Given the description of an element on the screen output the (x, y) to click on. 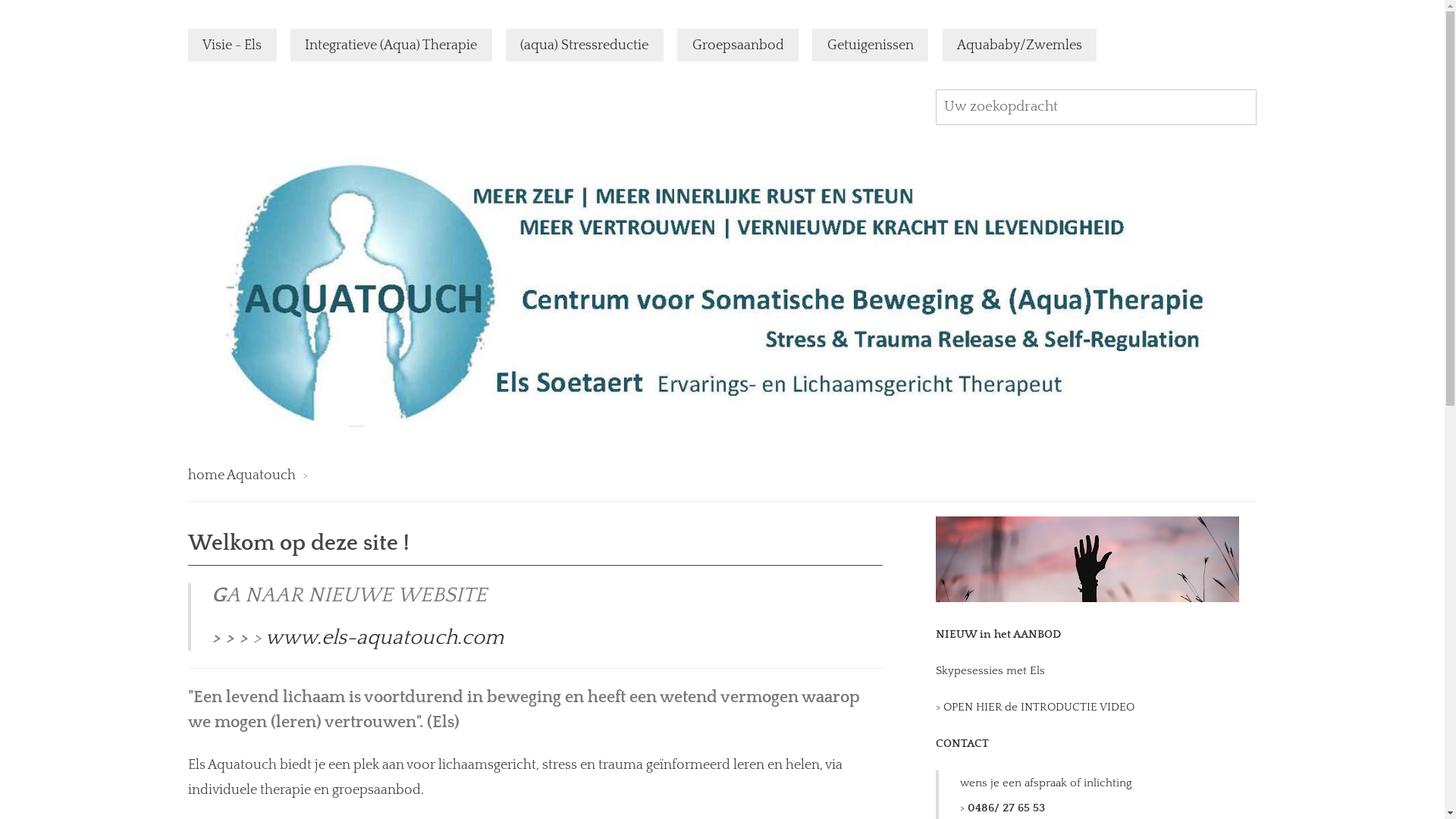
Getuigenissen Element type: text (870, 44)
Groepsaanbod Element type: text (737, 44)
Visie - Els Element type: text (232, 44)
> OPEN HIER de INTRODUCTIE VIDEO Element type: text (1034, 706)
(aqua) Stressreductie Element type: text (584, 44)
www.els-aquatouch.com Element type: text (384, 637)
Integratieve (Aqua) Therapie Element type: text (391, 44)
Aquababy/Zwemles Element type: text (1019, 44)
